Given the description of an element on the screen output the (x, y) to click on. 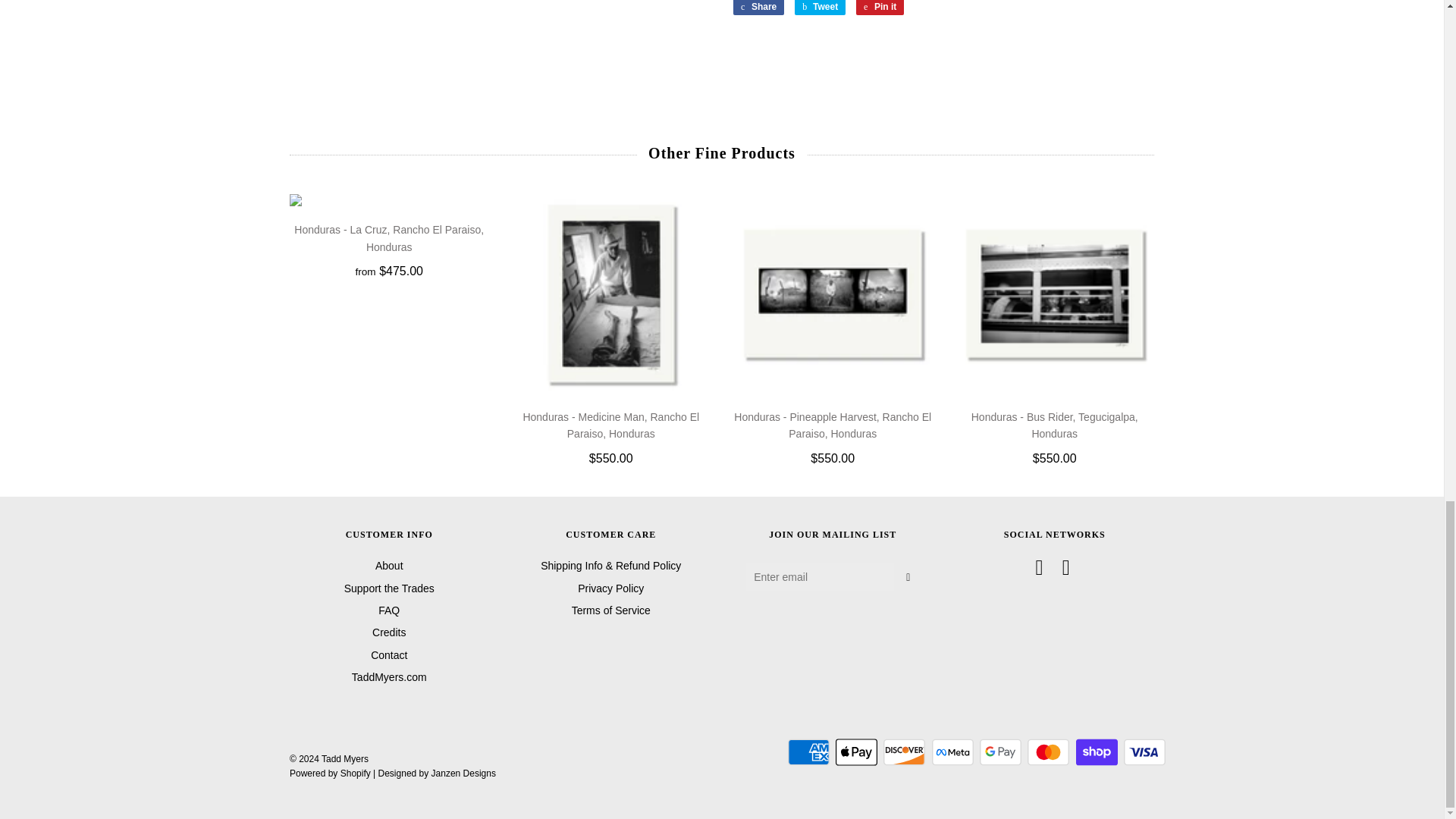
Honduras - La Cruz, Rancho El Paraiso, Honduras (389, 200)
Visa (1145, 752)
American Express (808, 752)
Honduras - Pineapple Harvest, Rancho El Paraiso, Honduras (833, 293)
Honduras - Medicine Man, Rancho El Paraiso, Honduras (610, 293)
Meta Pay (952, 752)
Apple Pay (856, 752)
Discover (903, 752)
Honduras - Bus Rider, Tegucigalpa, Honduras (1054, 293)
Mastercard (1047, 752)
